Given the description of an element on the screen output the (x, y) to click on. 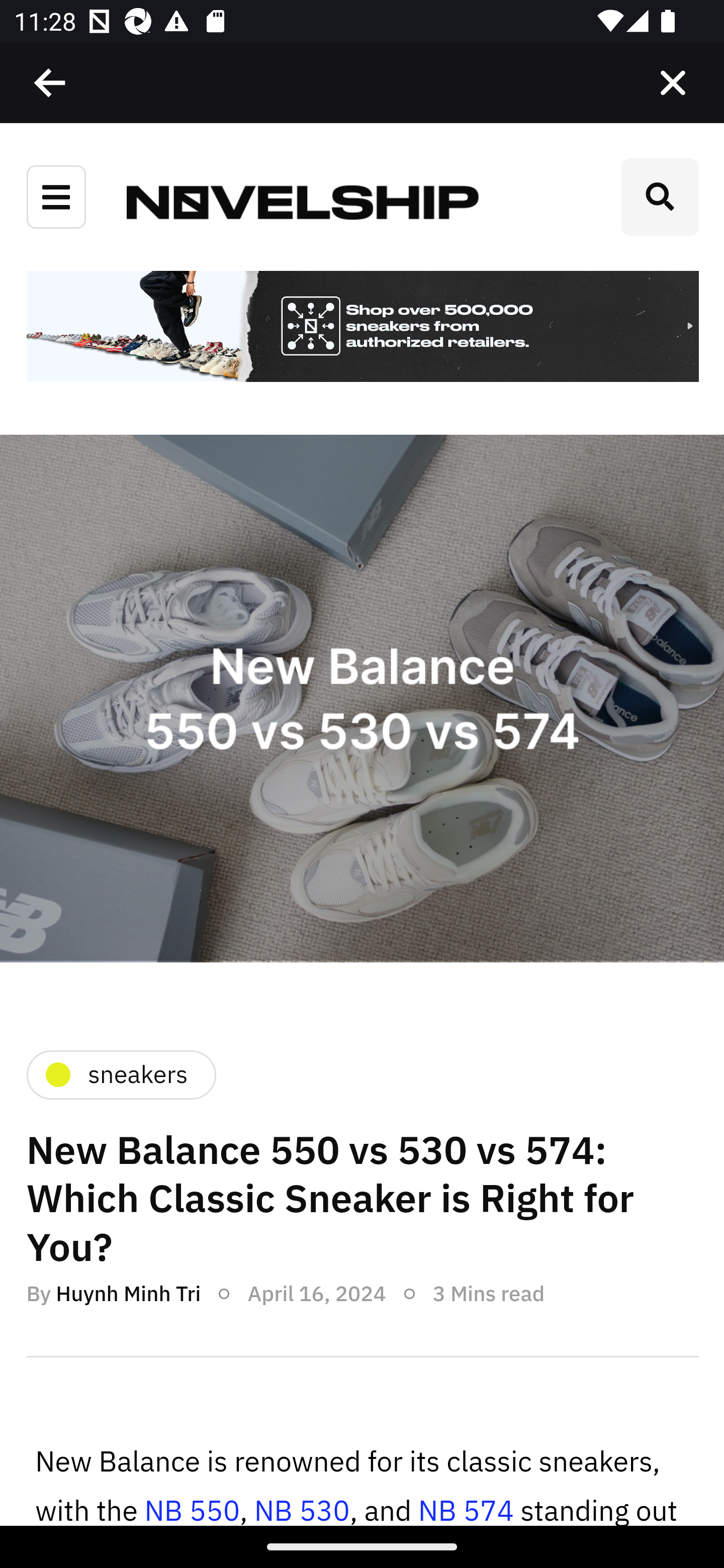
 (50, 83)
 (672, 83)
Search toggle (659, 196)
Novelship News (303, 201)
sneakers?utm_source=blog&utm_medium=banner (362, 327)
sneakers (120, 1074)
Huynh Minh Tri (127, 1293)
NB 550 (192, 1509)
NB 530 (301, 1509)
NB 574 (465, 1509)
